Given the description of an element on the screen output the (x, y) to click on. 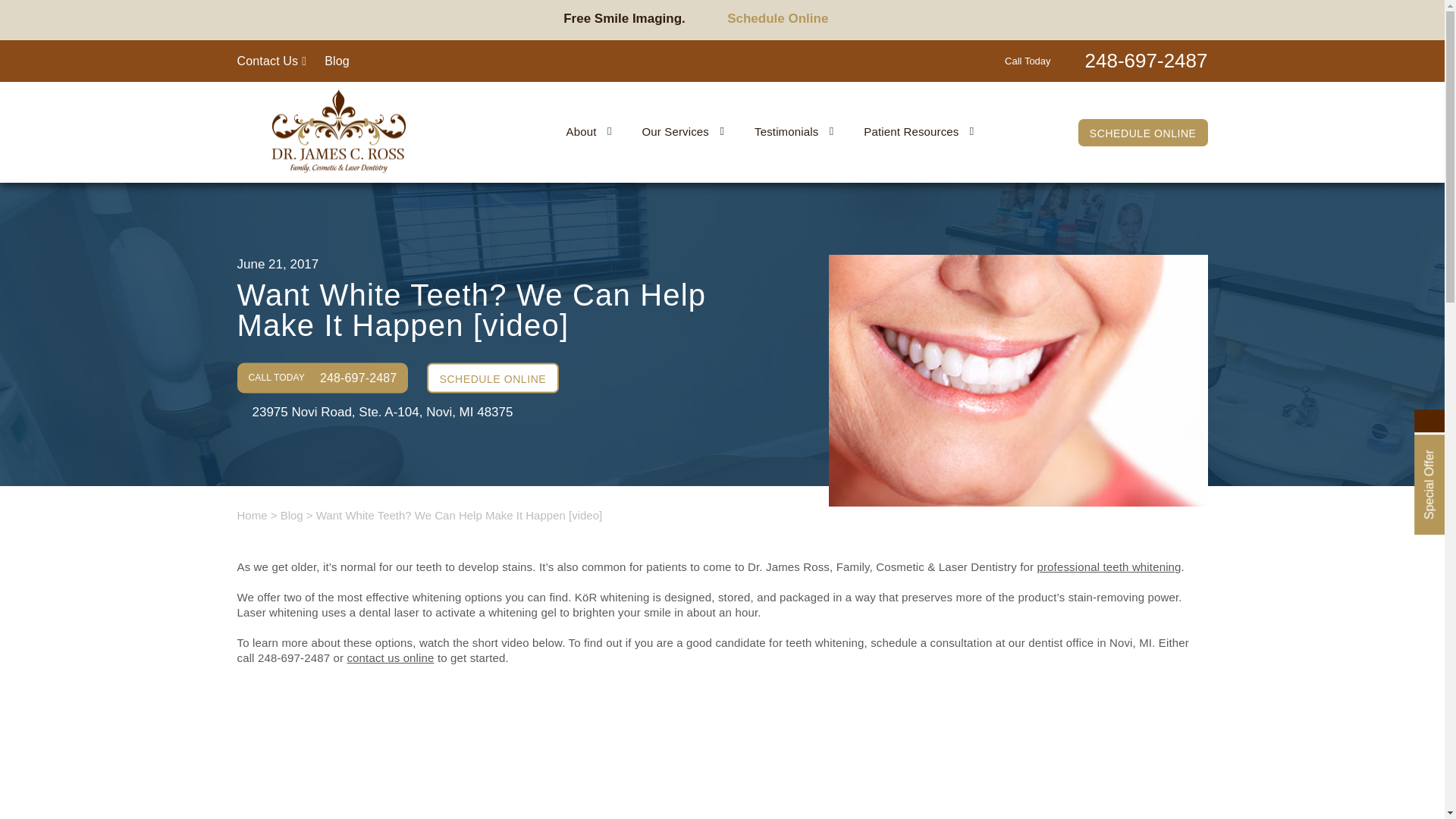
Our Services (683, 130)
Contact Us (270, 60)
Blog (336, 60)
Schedule Online (788, 18)
Schedule Online (788, 33)
Call Today248-697-2487 (1105, 59)
Free Consultations. (627, 33)
Free Smile Imaging. (627, 18)
